Given the description of an element on the screen output the (x, y) to click on. 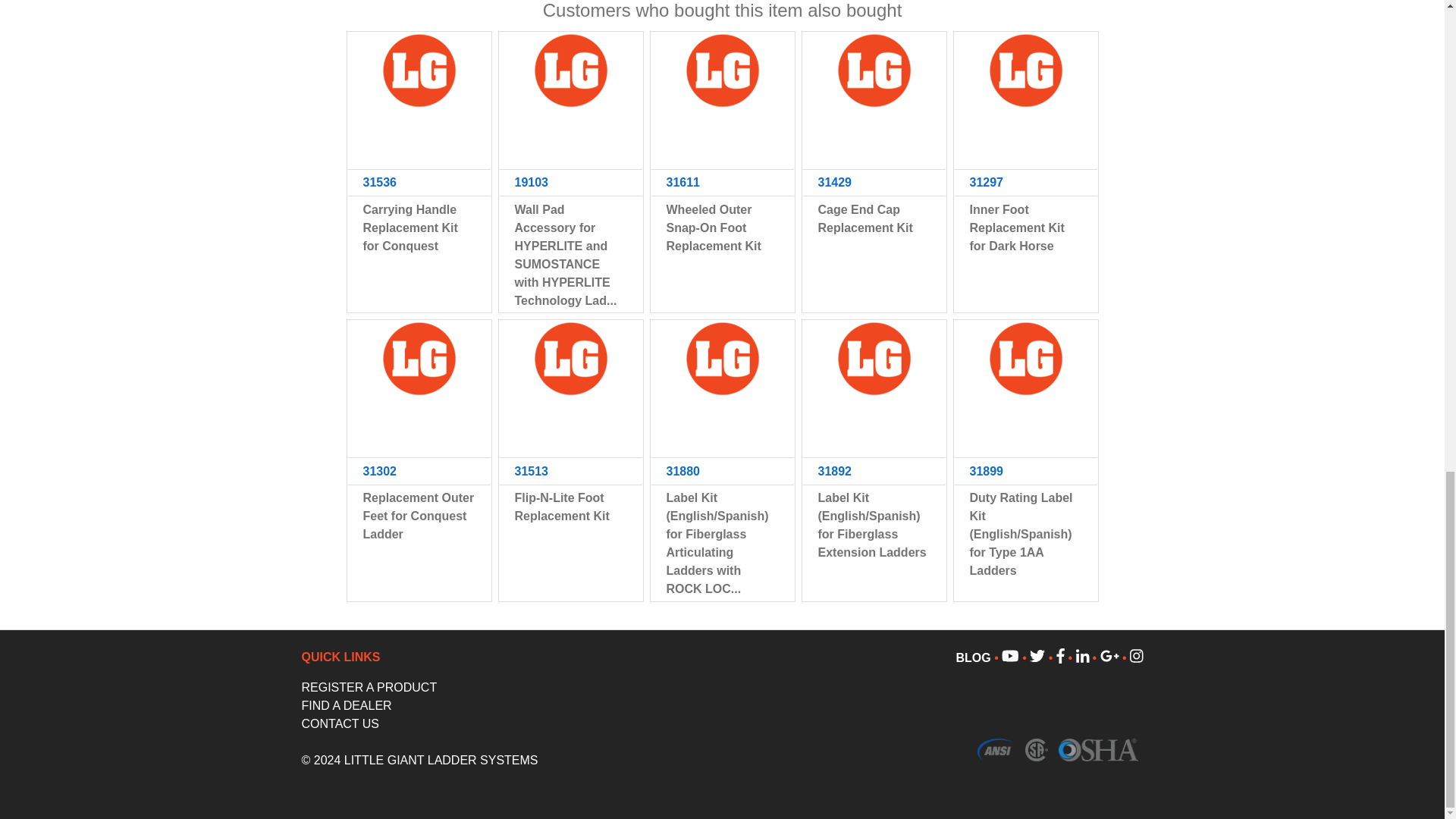
31880 (721, 471)
31513 (570, 471)
31899 (1024, 471)
31297 (1024, 182)
31536 Hero Image (417, 70)
31611 Hero Image (721, 70)
31611 (721, 182)
31892 Hero Image (873, 358)
31899 Hero Image (1024, 358)
CONTACT US (340, 723)
31302 Hero Image (417, 358)
19103 (570, 182)
31429 Hero Image (873, 70)
31880 Hero Image (721, 358)
FIND A DEALER (346, 705)
